Given the description of an element on the screen output the (x, y) to click on. 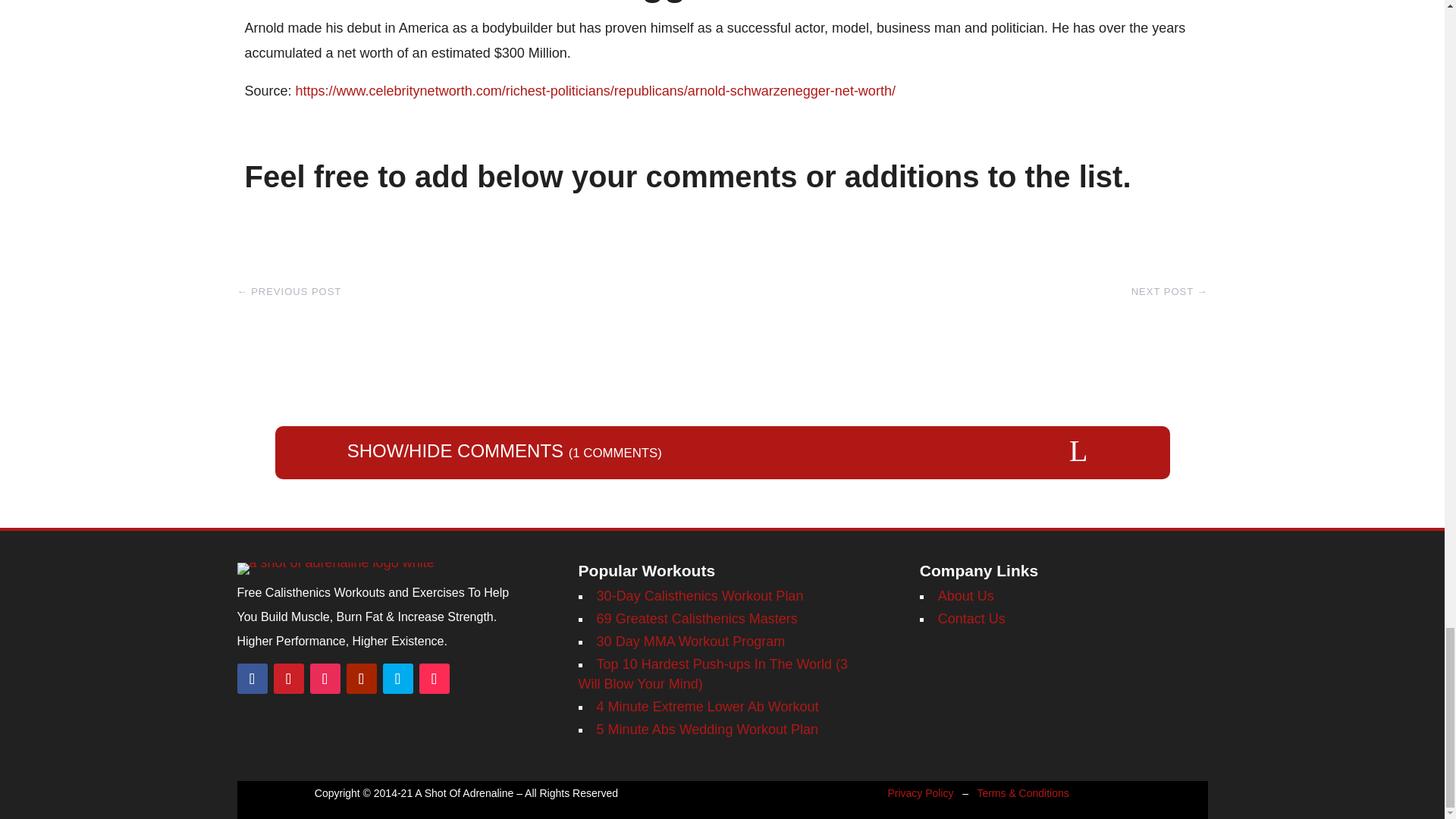
Follow on Facebook (250, 678)
Follow on Instagram (323, 678)
Follow on Twitter (396, 678)
Follow on Pinterest (287, 678)
Follow on Youtube (360, 678)
Follow on TikTok (433, 678)
a-shot-of-adrenaline-logo-footer (334, 568)
